Given the description of an element on the screen output the (x, y) to click on. 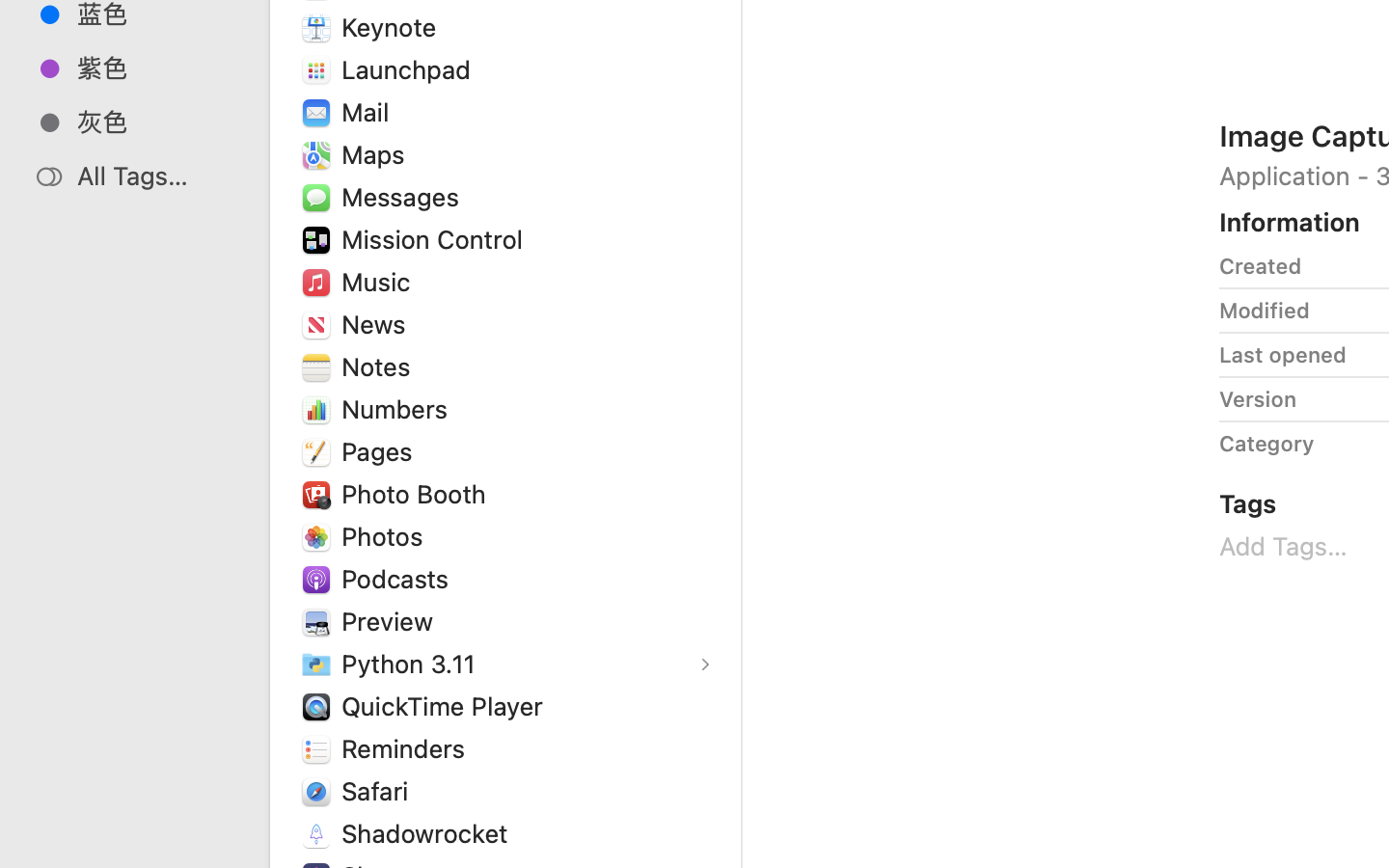
Safari Element type: AXTextField (378, 790)
Launchpad Element type: AXTextField (410, 69)
Reminders Element type: AXTextField (407, 747)
Mission Control Element type: AXTextField (436, 238)
Podcasts Element type: AXTextField (399, 578)
